Given the description of an element on the screen output the (x, y) to click on. 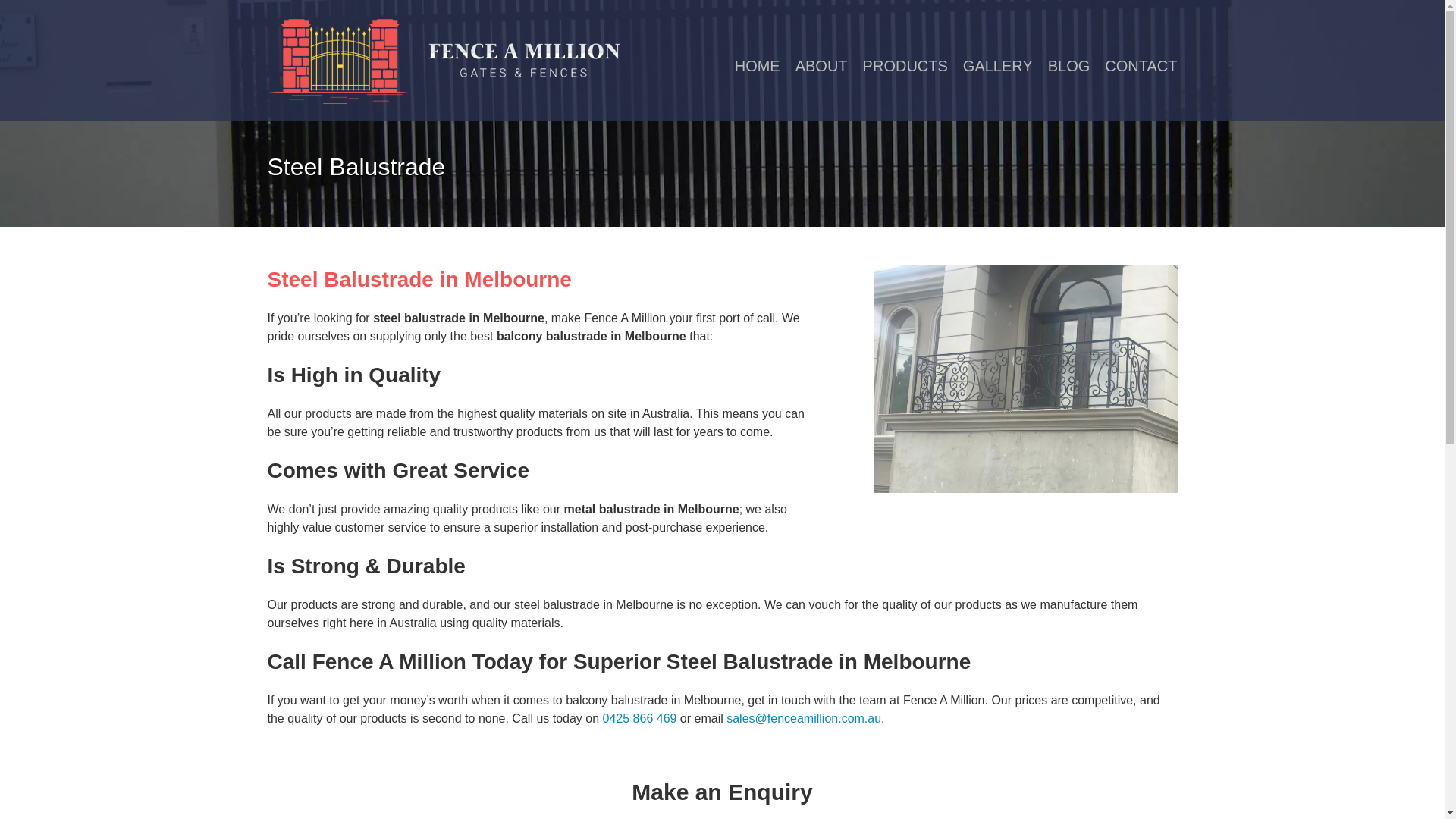
GALLERY Element type: text (997, 65)
Fence A Million Element type: hover (442, 60)
CONTACT Element type: text (1140, 65)
ABOUT Element type: text (821, 65)
PRODUCTS Element type: text (904, 65)
0425 866 469 Element type: text (639, 718)
Steel Balustrade Melbourne Element type: hover (1024, 378)
sales@fenceamillion.com.au Element type: text (803, 718)
BLOG Element type: text (1069, 65)
HOME Element type: text (757, 65)
